Given the description of an element on the screen output the (x, y) to click on. 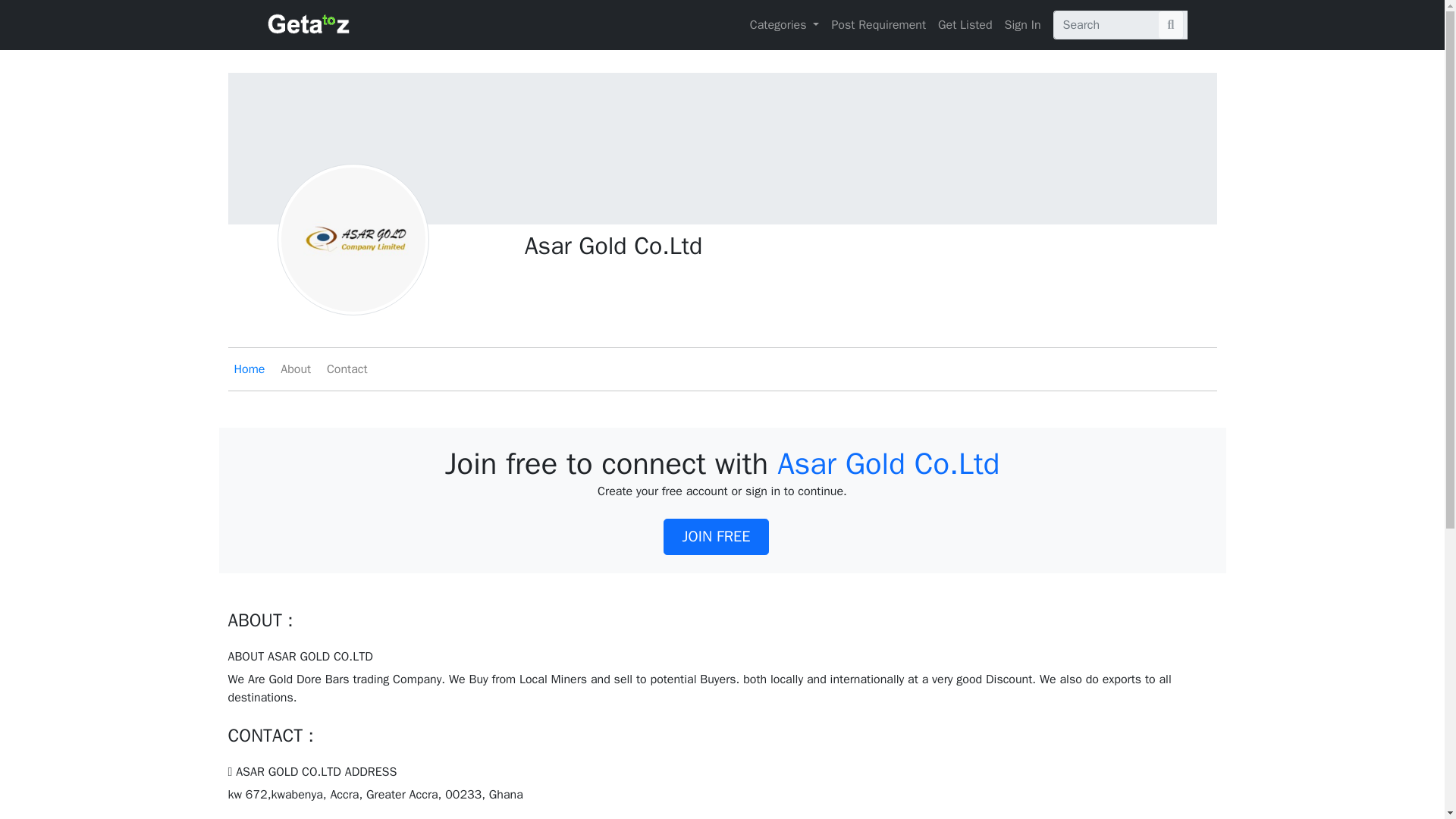
Sign In (1022, 24)
About (296, 368)
Post Requirement (878, 24)
Contact (347, 368)
JOIN FREE (716, 536)
Home (248, 368)
Get Listed (964, 24)
Categories (784, 24)
